Given the description of an element on the screen output the (x, y) to click on. 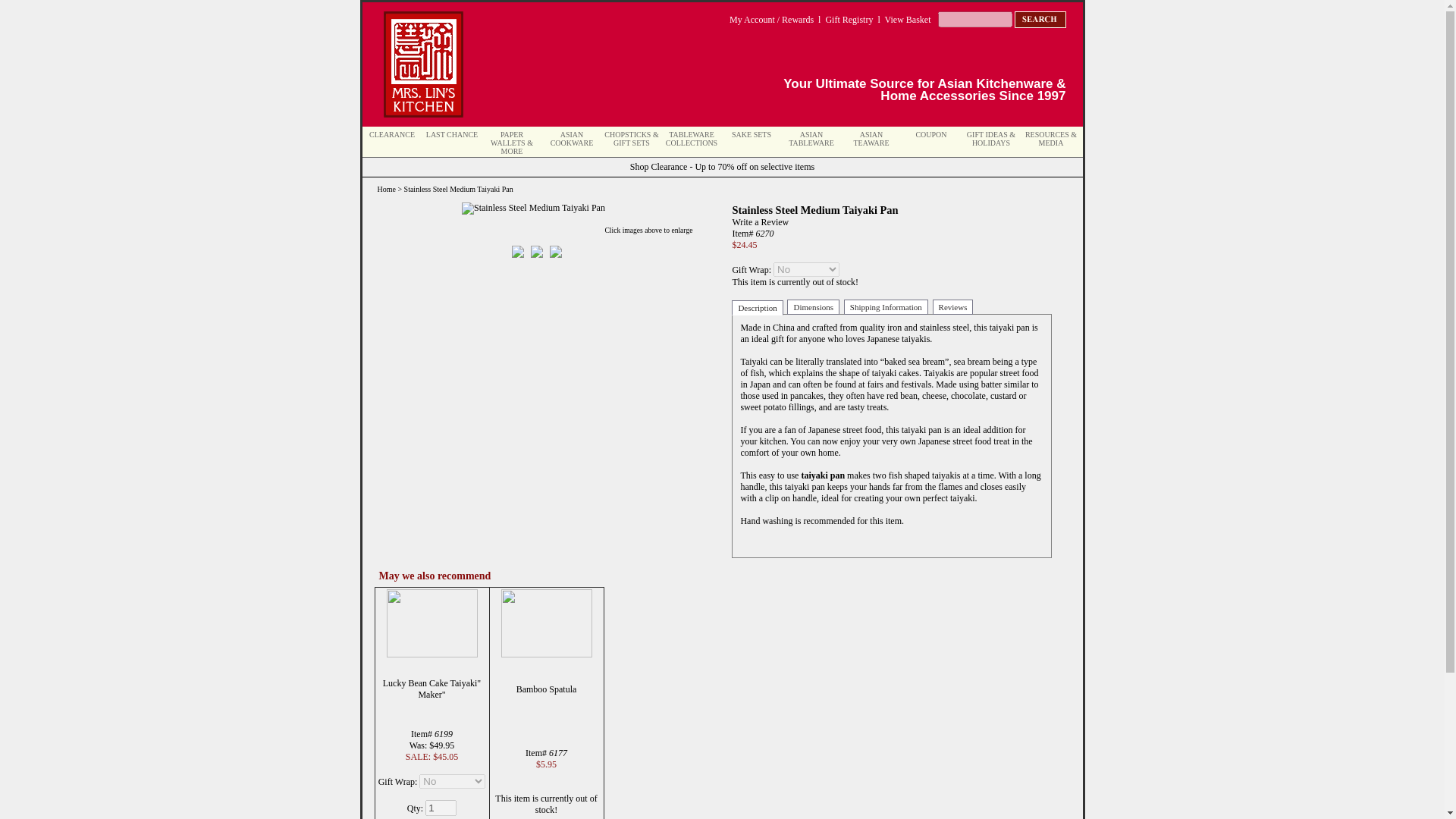
Last Chance (451, 134)
1 (441, 806)
Clearance (391, 134)
LAST CHANCE (451, 134)
Coupon  (930, 134)
Asian Cookware (572, 138)
CLEARANCE (391, 134)
Sake Sets (751, 134)
Asian Tableware (811, 138)
Chopsticks and Chopstick Gift Sets (631, 138)
Asian Teaware (871, 138)
View Basket (908, 19)
Tableware Collections (691, 138)
Gift Registry (848, 19)
